Given the description of an element on the screen output the (x, y) to click on. 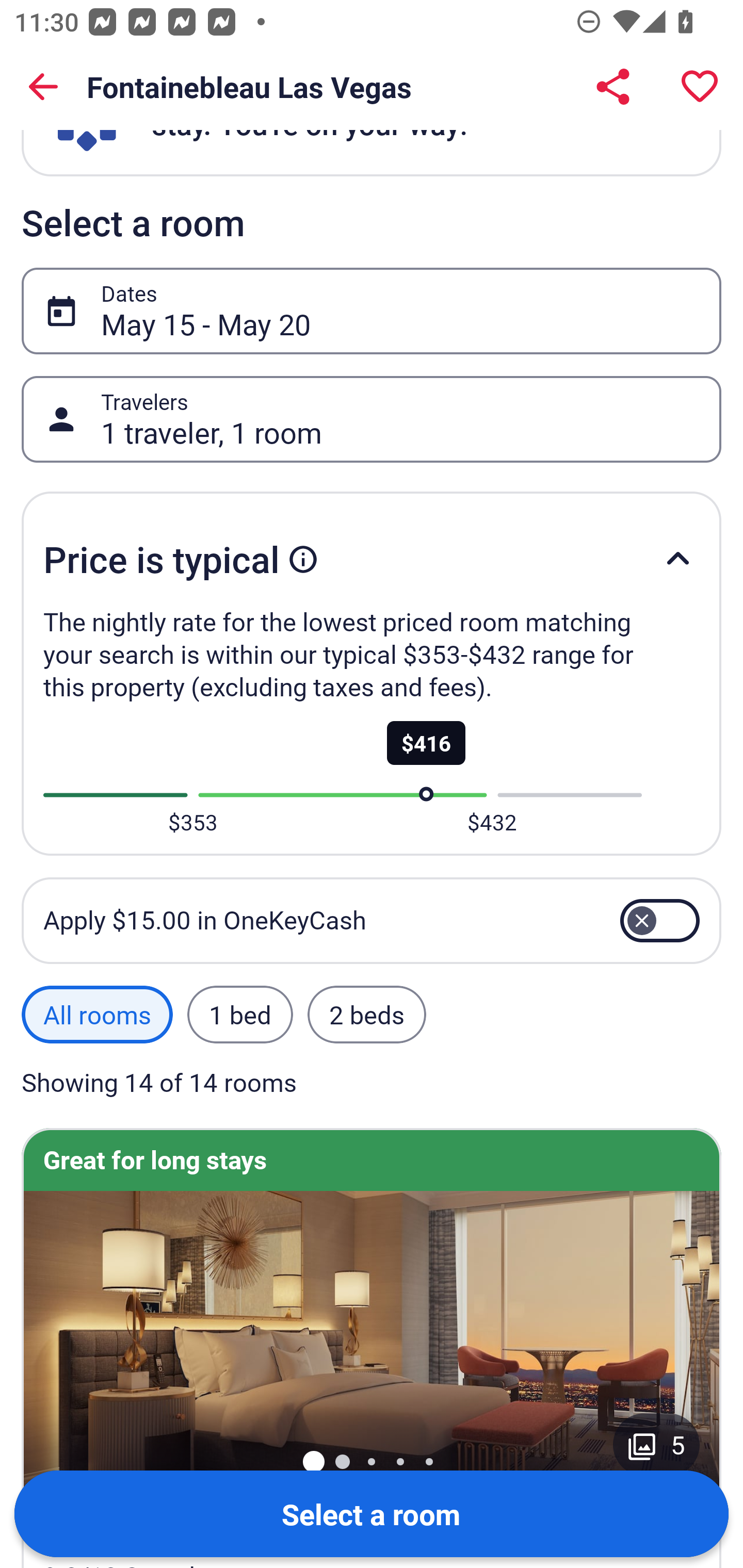
Back (43, 86)
Save property to a trip (699, 86)
Share Fontainebleau Las Vegas (612, 87)
May 15 - May 20 Dates (371, 311)
May 15 - May 20 (400, 311)
1 traveler, 1 room Travelers (371, 419)
1 traveler, 1 room (400, 419)
Price is typical (371, 558)
All rooms (97, 1014)
1 bed (239, 1014)
2 beds (366, 1014)
Gallery button with 5 images (655, 1444)
Select a room Button Select a room (371, 1513)
